Given the description of an element on the screen output the (x, y) to click on. 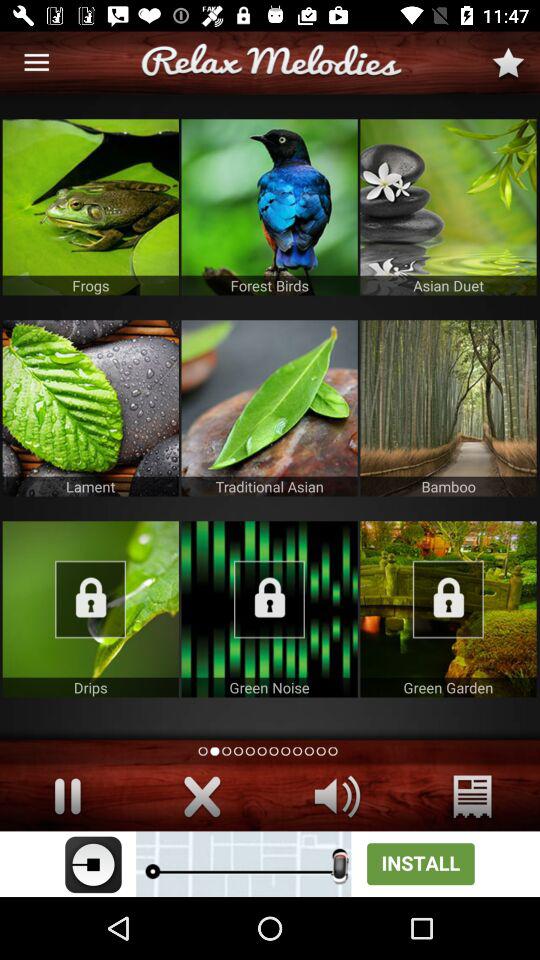
go to cloes button (202, 796)
